Given the description of an element on the screen output the (x, y) to click on. 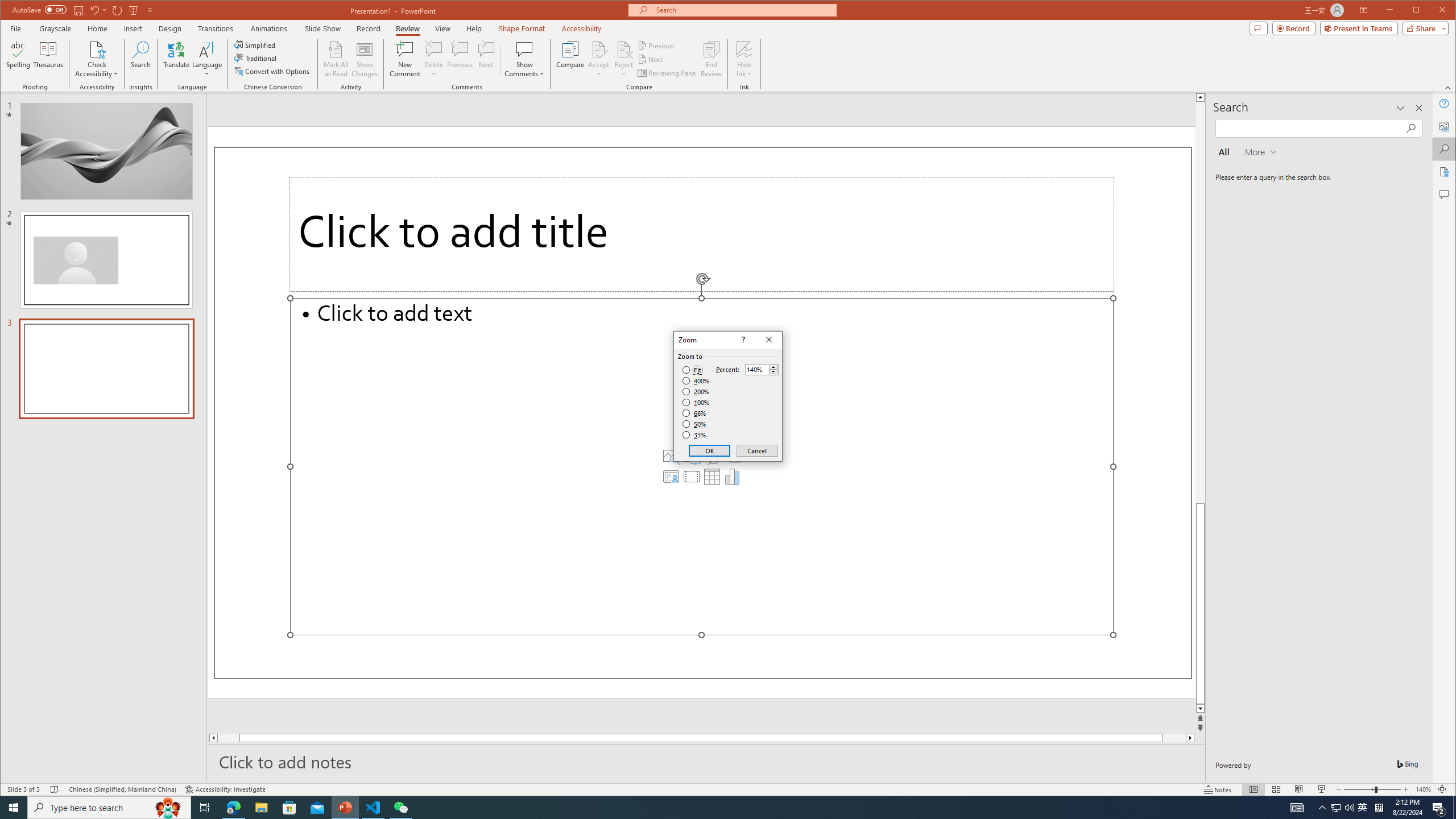
33% (694, 434)
66% (694, 412)
200% (696, 391)
